Given the description of an element on the screen output the (x, y) to click on. 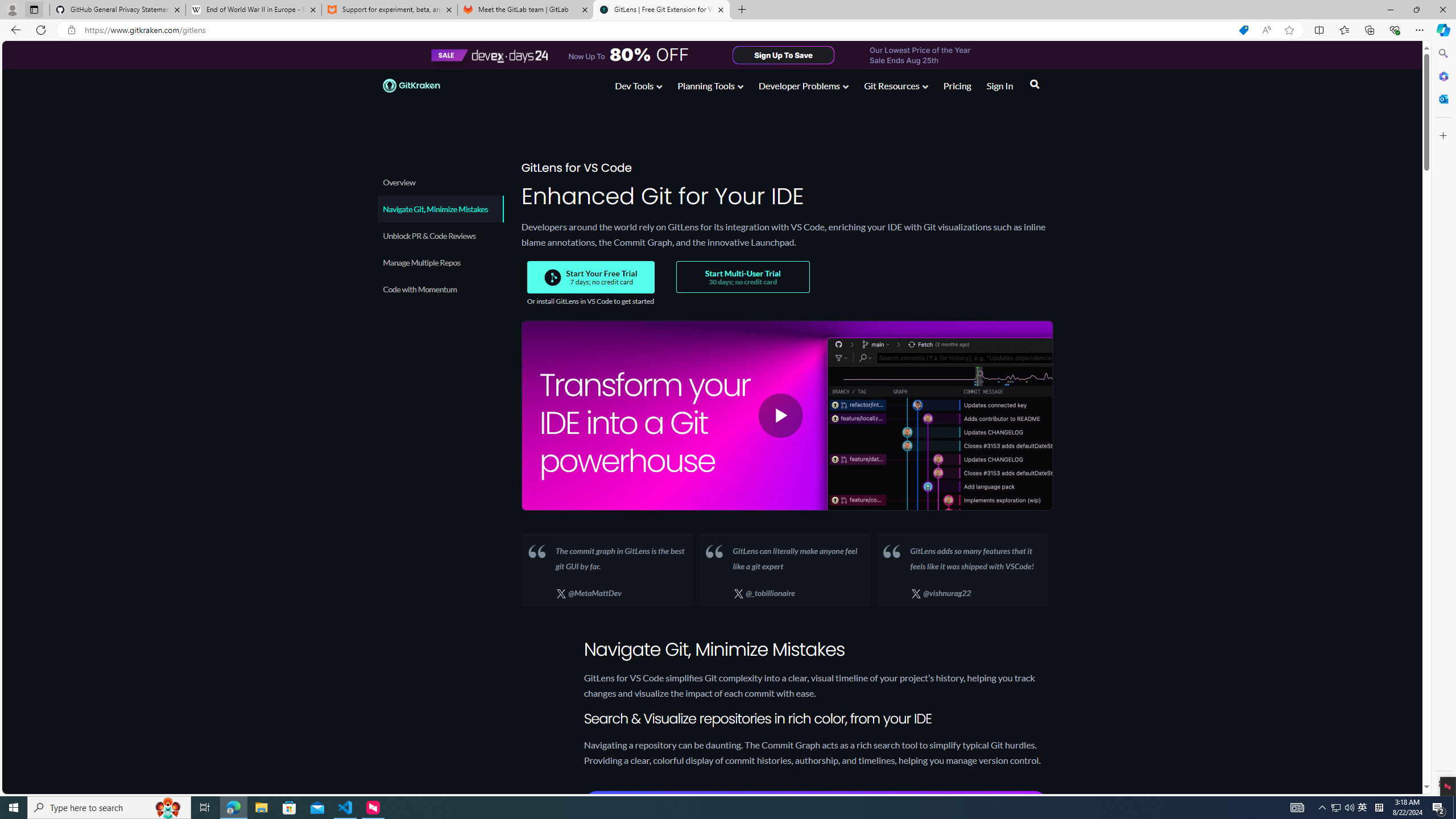
Code with Momentum (440, 289)
Meet the GitLab team | GitLab (525, 9)
Unblock PR & Code Reviews (439, 235)
GitLens | Free Git Extension for Visual Studio Code (660, 9)
